Given the description of an element on the screen output the (x, y) to click on. 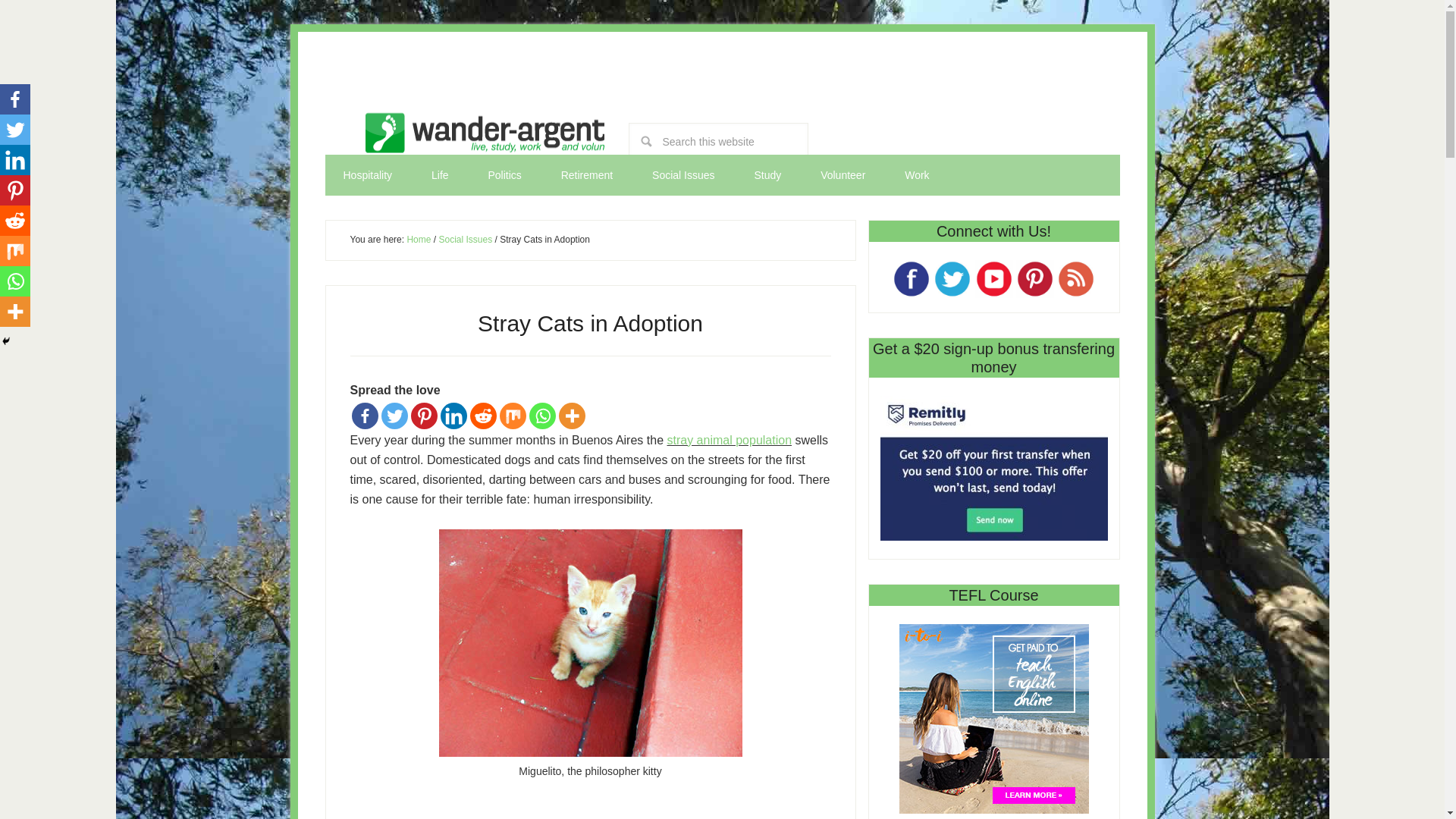
wander-argentina.org (482, 137)
Reddit (483, 415)
Politics (503, 174)
Life (440, 174)
Hospitality (367, 174)
Twitter (15, 129)
Social Issues (682, 174)
Mix (512, 415)
WAo-kitteninadoptions-yellow (589, 642)
Pinterest (424, 415)
Work (916, 174)
Social Issues (465, 239)
Linkedin (15, 159)
Whatsapp (542, 415)
